Given the description of an element on the screen output the (x, y) to click on. 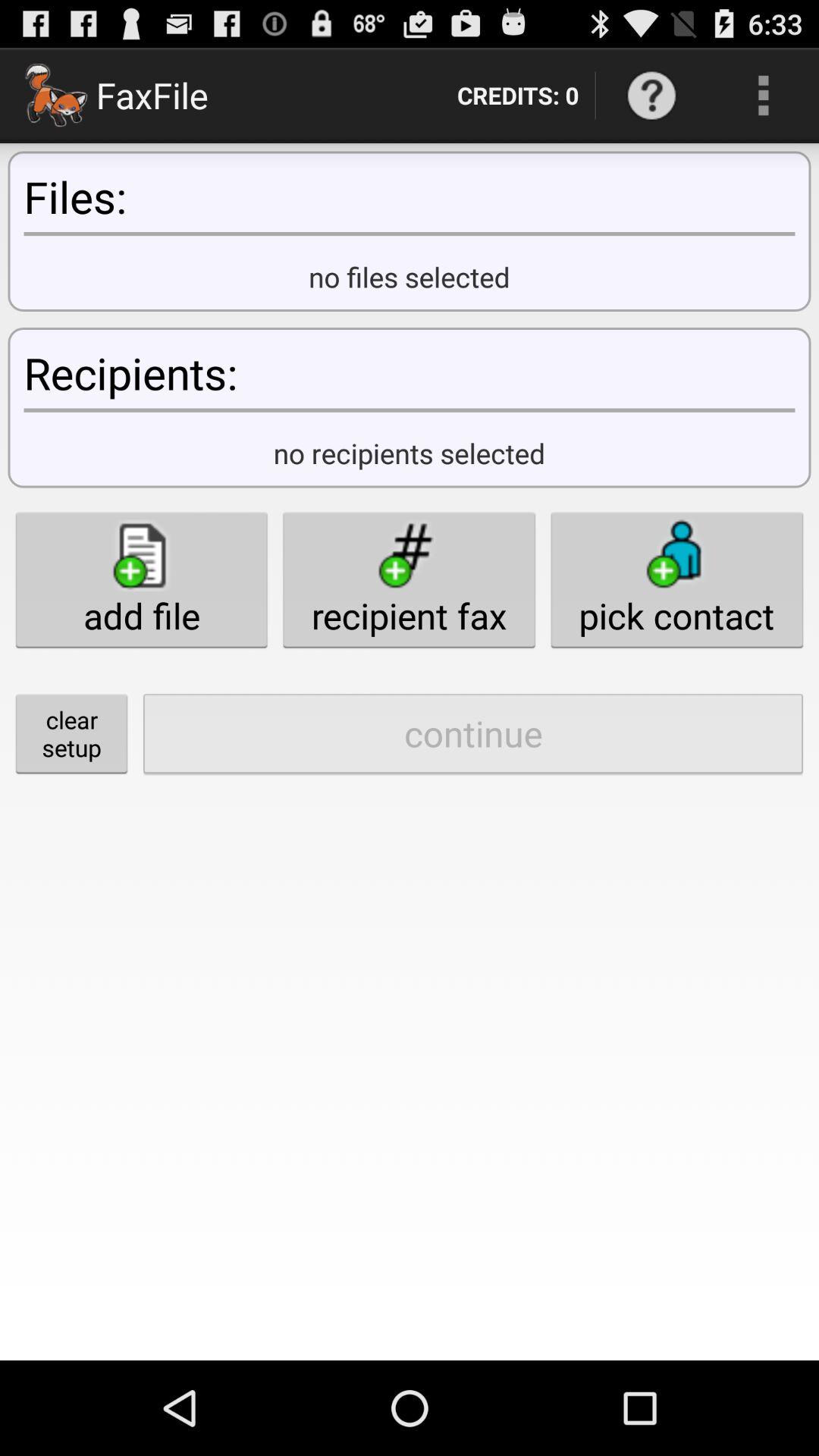
launch button above the continue item (409, 579)
